Given the description of an element on the screen output the (x, y) to click on. 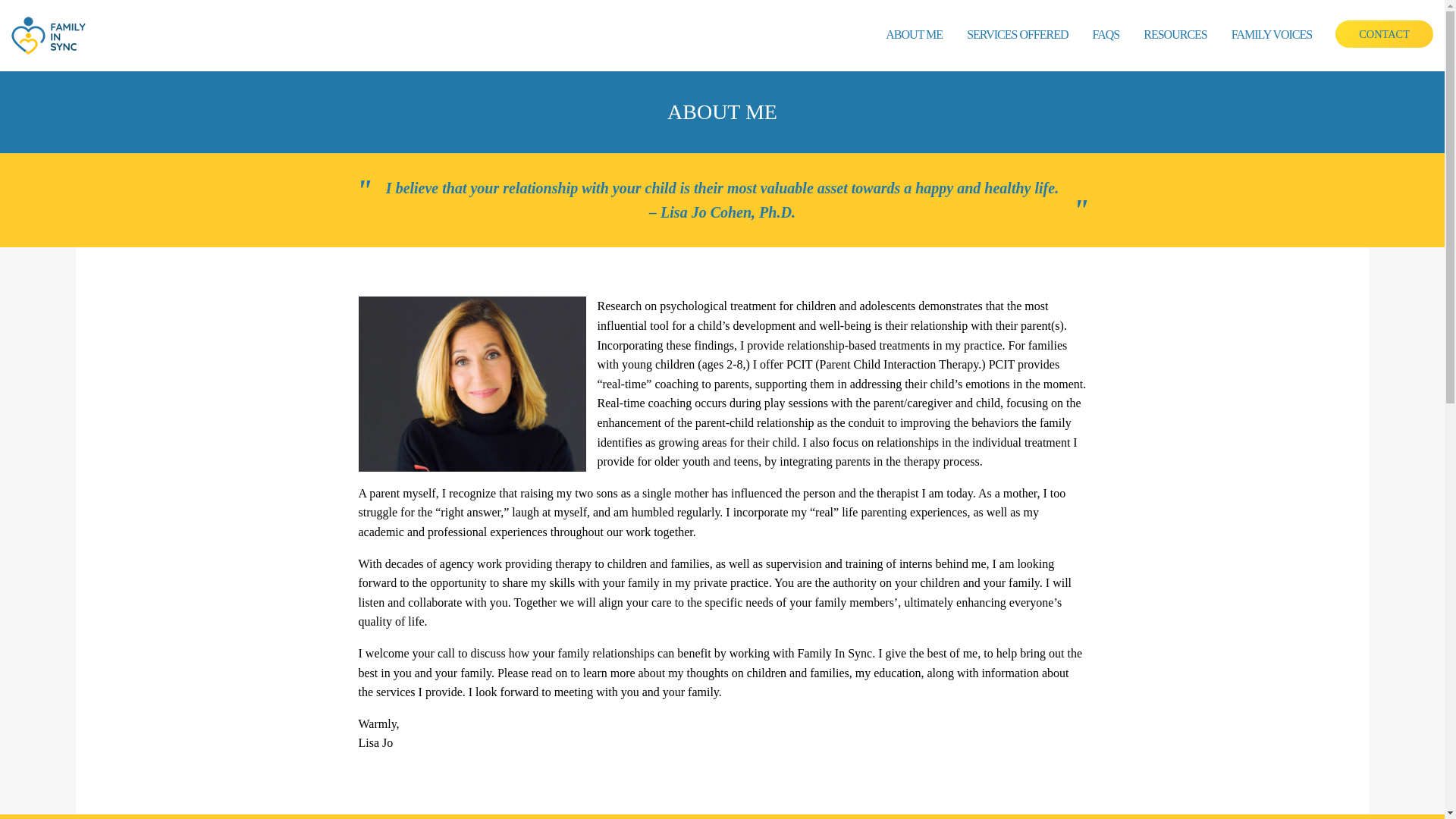
FAQS (1106, 34)
FAMILY VOICES (1271, 34)
CONTACT (1383, 33)
ABOUT ME (914, 34)
SERVICES OFFERED (1017, 34)
RESOURCES (1174, 34)
